Given the description of an element on the screen output the (x, y) to click on. 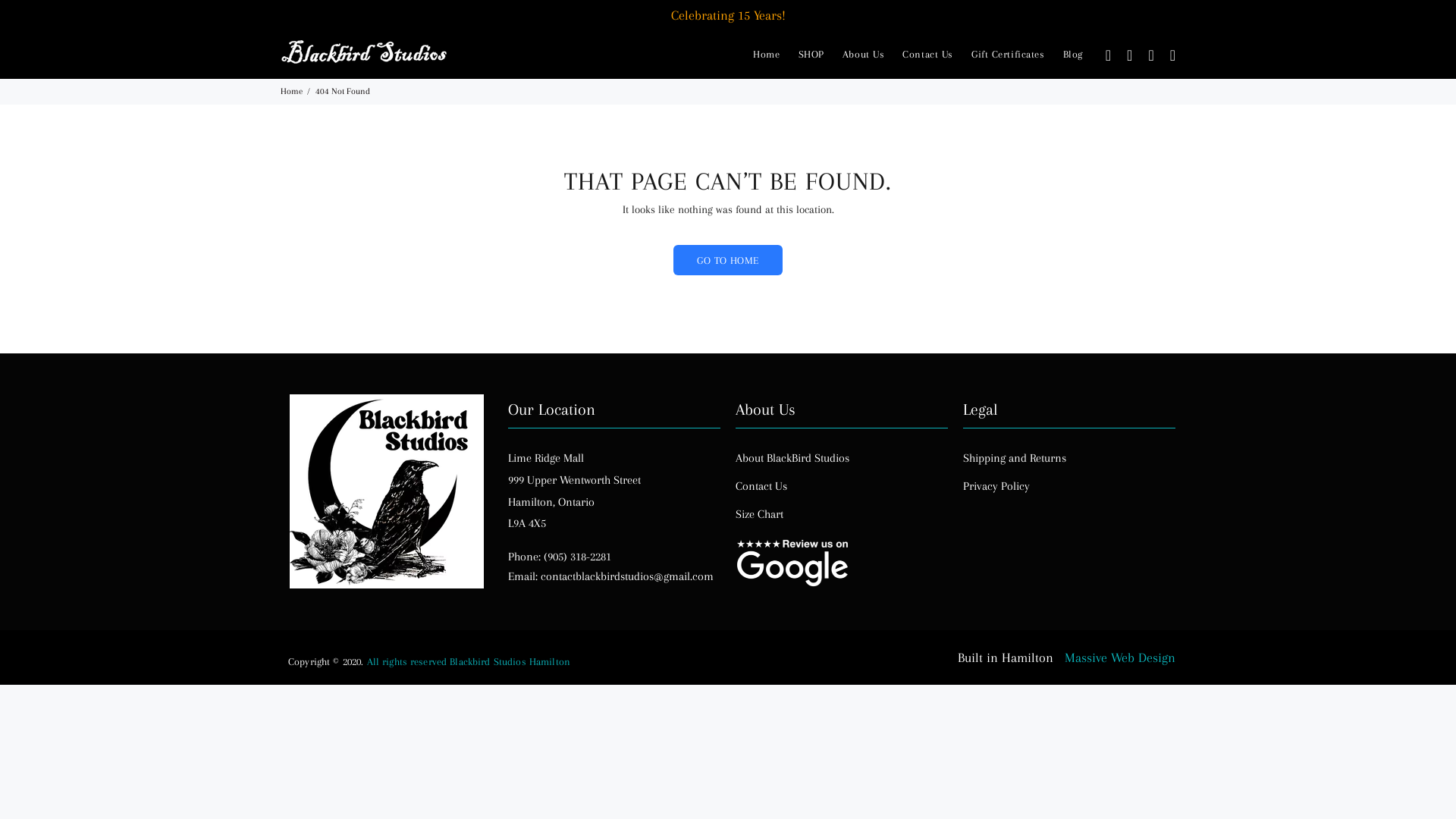
SHOP Element type: text (811, 53)
(905) 318-2281 Element type: text (577, 556)
About Us Element type: text (863, 53)
Home Element type: text (765, 53)
Shipping and Returns Element type: text (1014, 457)
Home Element type: text (291, 91)
contactblackbirdstudios@gmail.com Element type: text (626, 576)
Privacy Policy Element type: text (996, 485)
About BlackBird Studios Element type: text (792, 457)
Gift Certificates Element type: text (1008, 53)
Size Chart Element type: text (759, 513)
Contact Us Element type: text (927, 53)
Blog Element type: text (1068, 53)
Contact Us Element type: text (761, 485)
GO TO HOME Element type: text (727, 259)
Massive Web Design Element type: text (1119, 656)
